Given the description of an element on the screen output the (x, y) to click on. 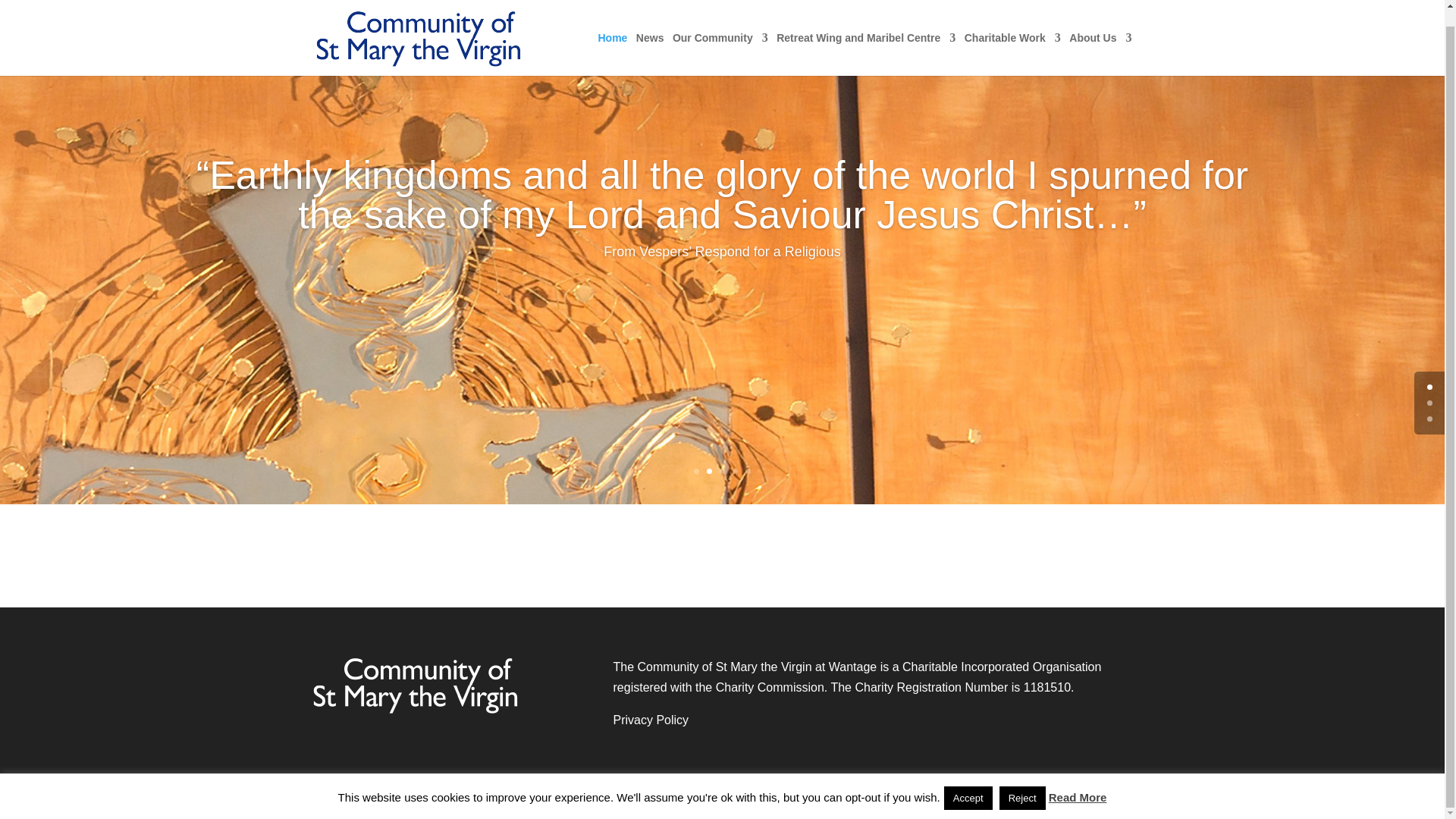
Retreat Wing and Maribel Centre (865, 37)
Our Community (720, 37)
Charitable Work (1012, 37)
